Given the description of an element on the screen output the (x, y) to click on. 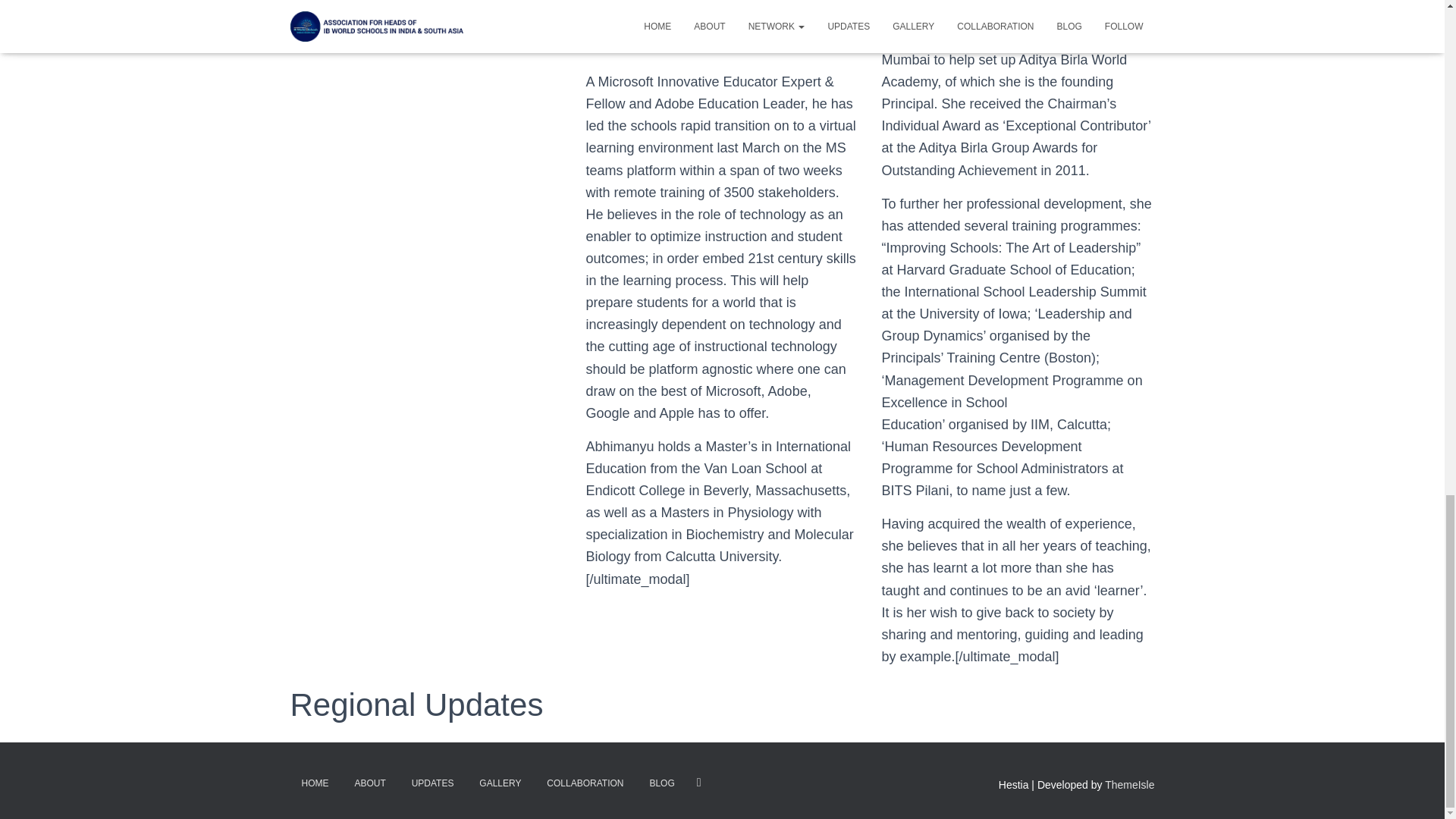
ThemeIsle (1129, 784)
Updates (416, 704)
UPDATES (432, 783)
GALLERY (499, 783)
BLOG (661, 783)
COLLABORATION (584, 783)
HOME (314, 783)
ABOUT (369, 783)
Regional Updates (416, 704)
